Given the description of an element on the screen output the (x, y) to click on. 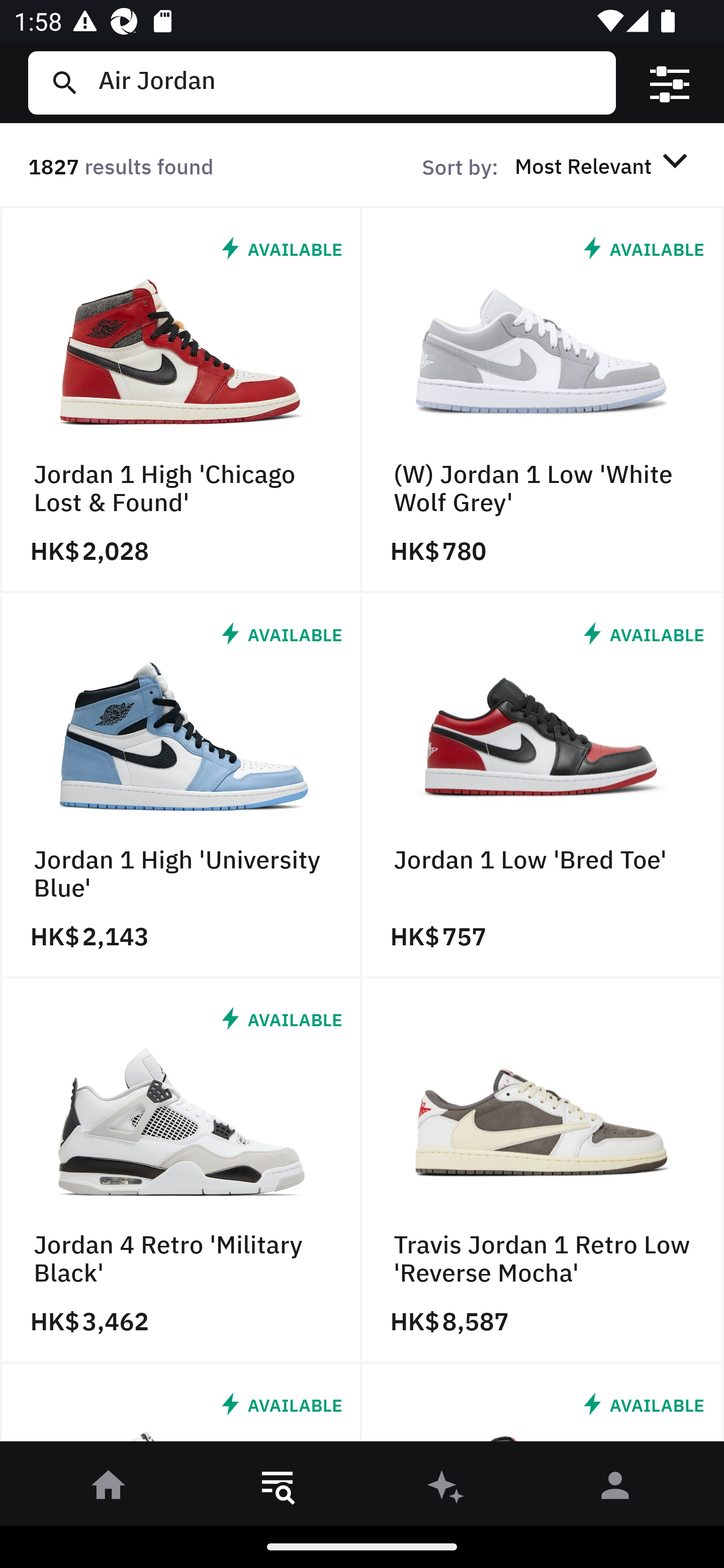
Air Jordan (349, 82)
 (669, 82)
Most Relevant  (604, 165)
 AVAILABLE Jordan 1 Low 'Bred Toe' HK$ 757 (543, 785)
󰋜 (108, 1488)
󱎸 (277, 1488)
󰫢 (446, 1488)
󰀄 (615, 1488)
